Given the description of an element on the screen output the (x, y) to click on. 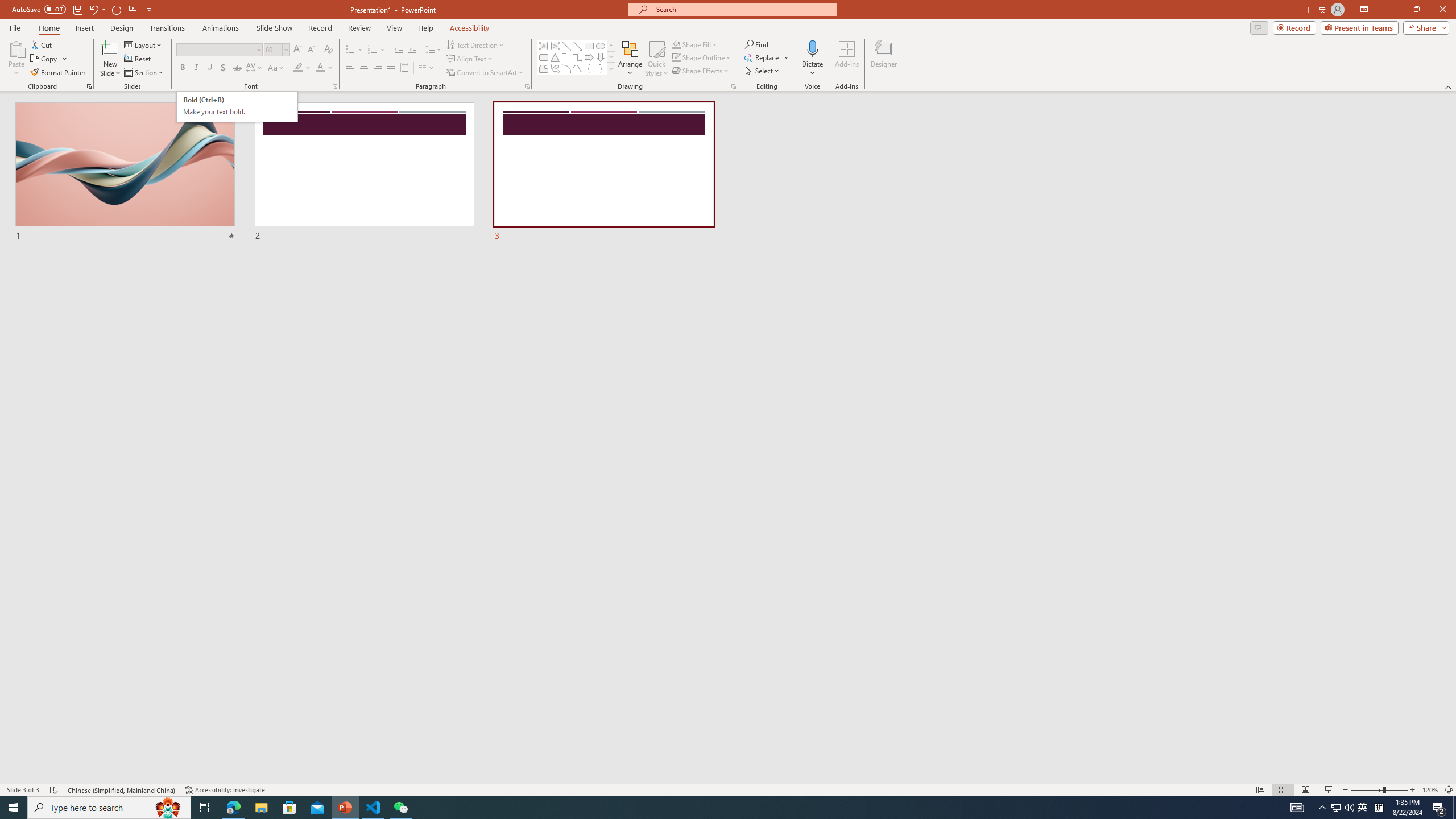
Isosceles Triangle (554, 57)
Paste (16, 58)
Arrange (630, 58)
Row up (611, 45)
Font... (334, 85)
AutoSave (38, 9)
Connector: Elbow (566, 57)
Numbering (372, 49)
Font (219, 49)
Share (1423, 27)
Normal (1260, 790)
Copy (49, 58)
Animations (220, 28)
Strikethrough (237, 67)
Find... (756, 44)
